Given the description of an element on the screen output the (x, y) to click on. 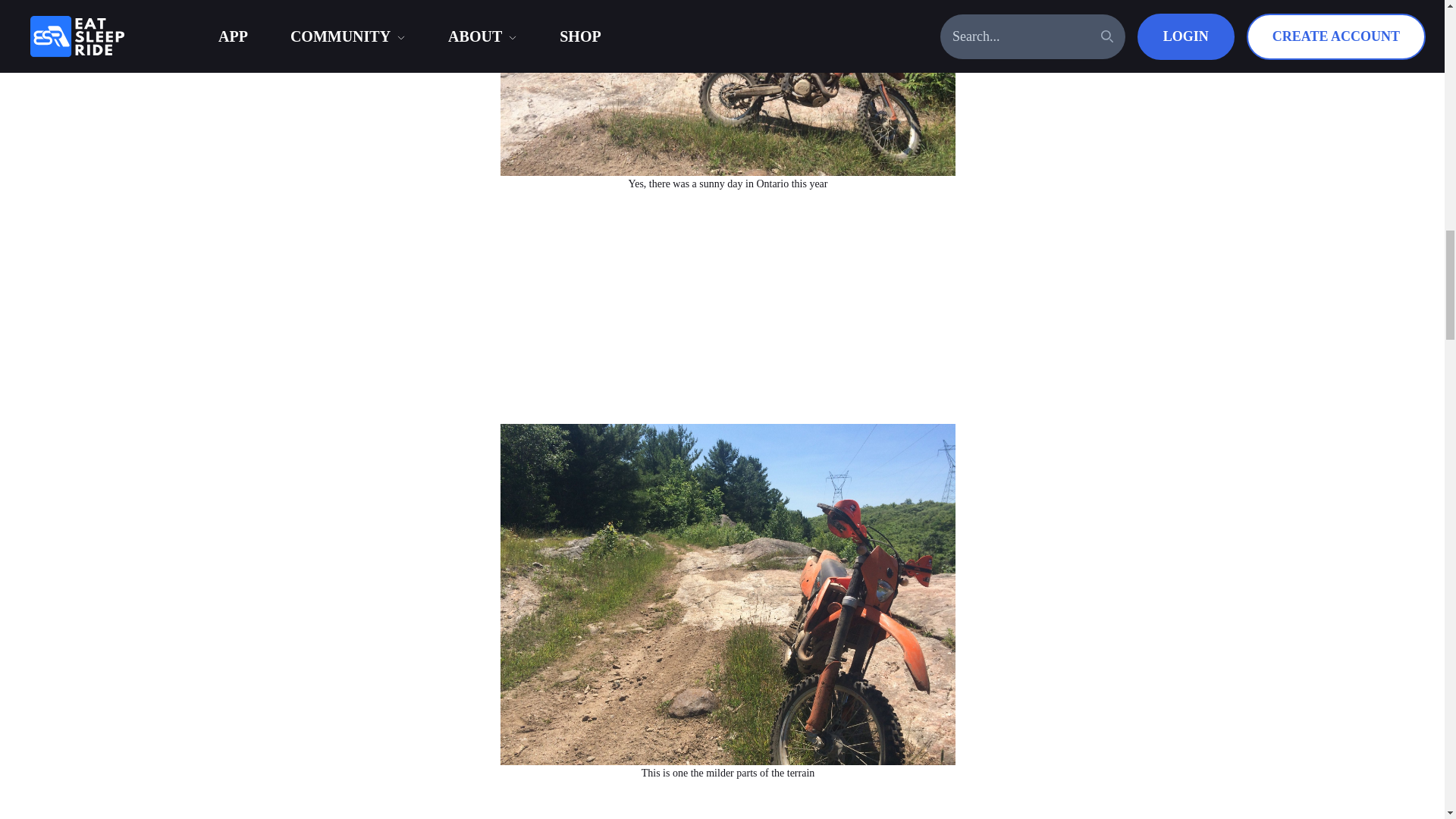
Advertisement (727, 806)
